Given the description of an element on the screen output the (x, y) to click on. 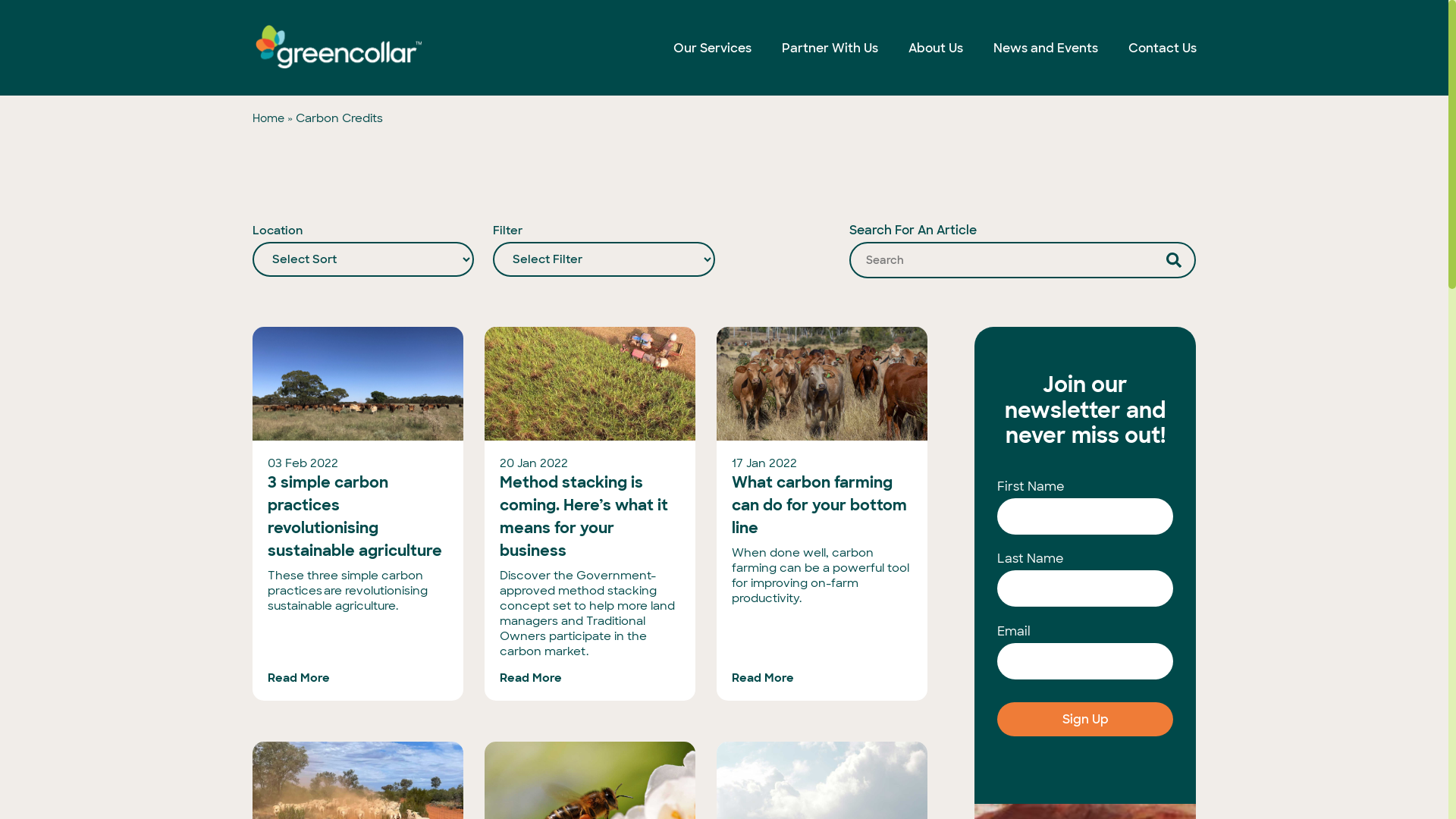
Home Element type: text (267, 118)
Our Services Element type: text (712, 46)
Sign Up Element type: text (1085, 719)
About Us Element type: text (935, 46)
News and Events Element type: text (1045, 46)
Contact Us Element type: text (1162, 46)
Partner With Us Element type: text (829, 46)
